Given the description of an element on the screen output the (x, y) to click on. 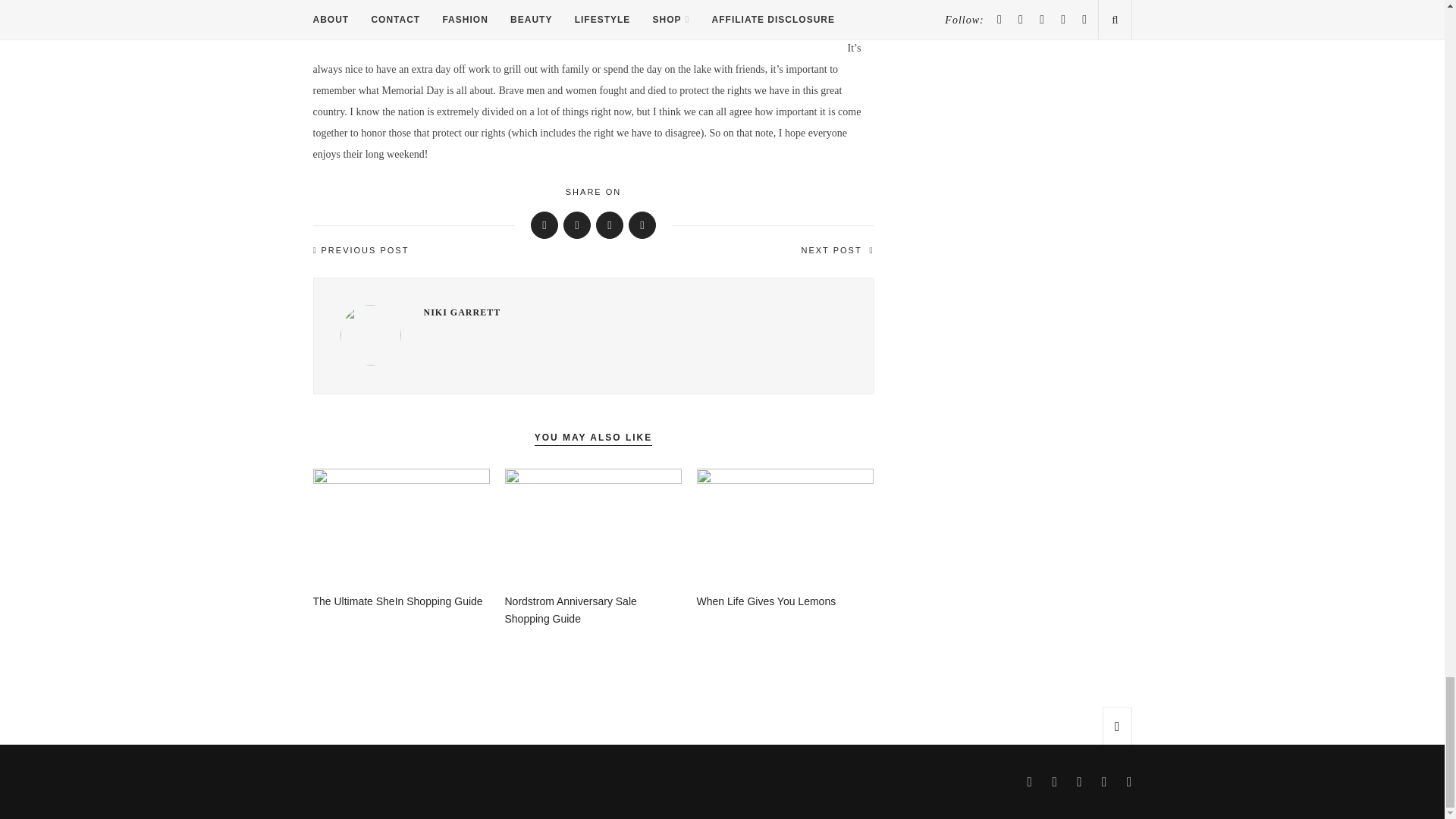
NIKI GARRETT (634, 312)
Posts by Niki Garrett (634, 312)
PREVIOUS POST (452, 250)
When Life Gives You Lemons (765, 601)
The Ultimate SheIn Shopping Guide (397, 601)
NEXT POST (732, 250)
Nordstrom Anniversary Sale Shopping Guide (571, 609)
